Given the description of an element on the screen output the (x, y) to click on. 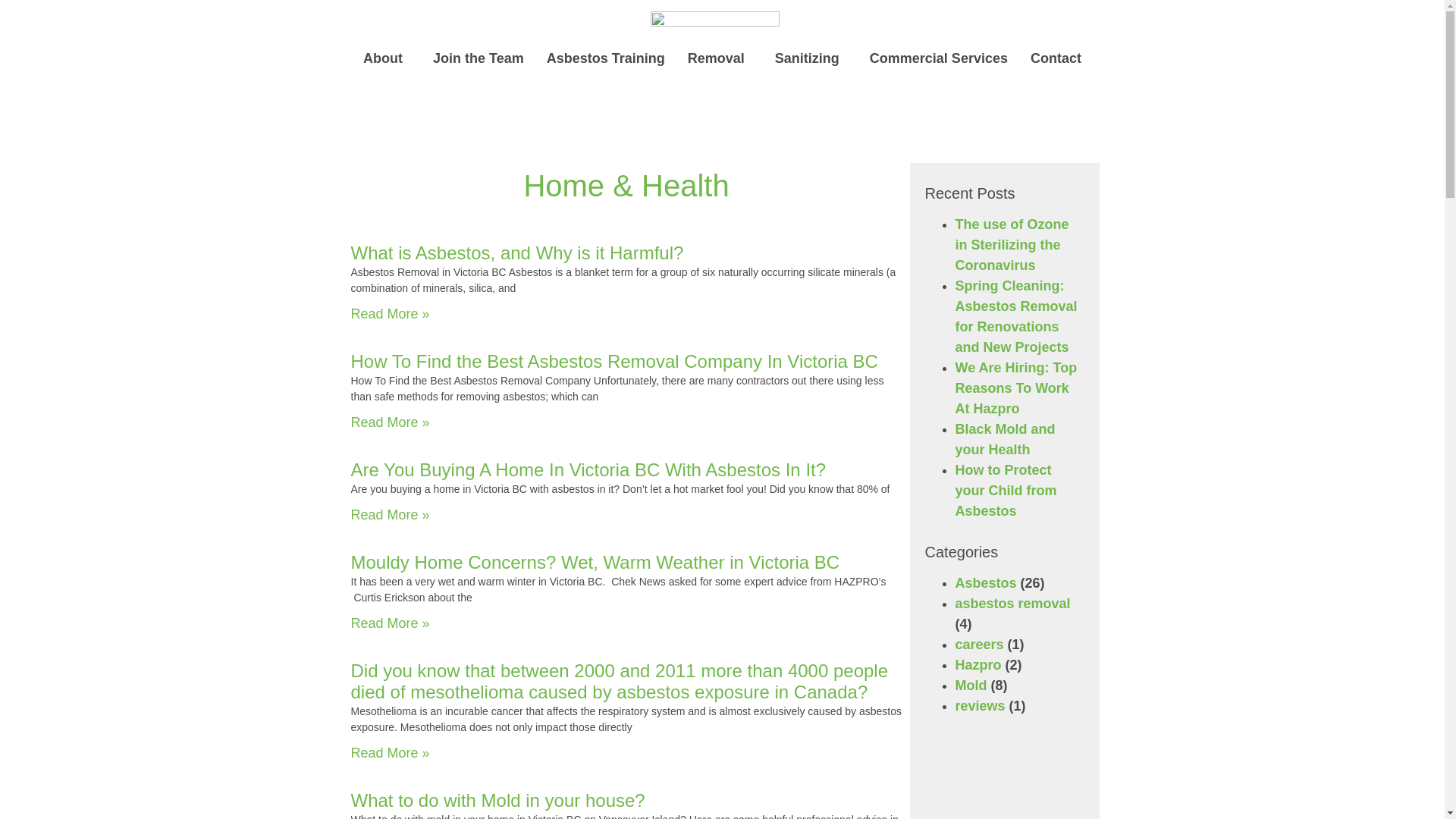
Sanitizing (810, 58)
Join the Team (478, 58)
About (387, 58)
Asbestos Training (606, 58)
Removal (719, 58)
Commercial Services (939, 58)
Contact (1056, 58)
